Given the description of an element on the screen output the (x, y) to click on. 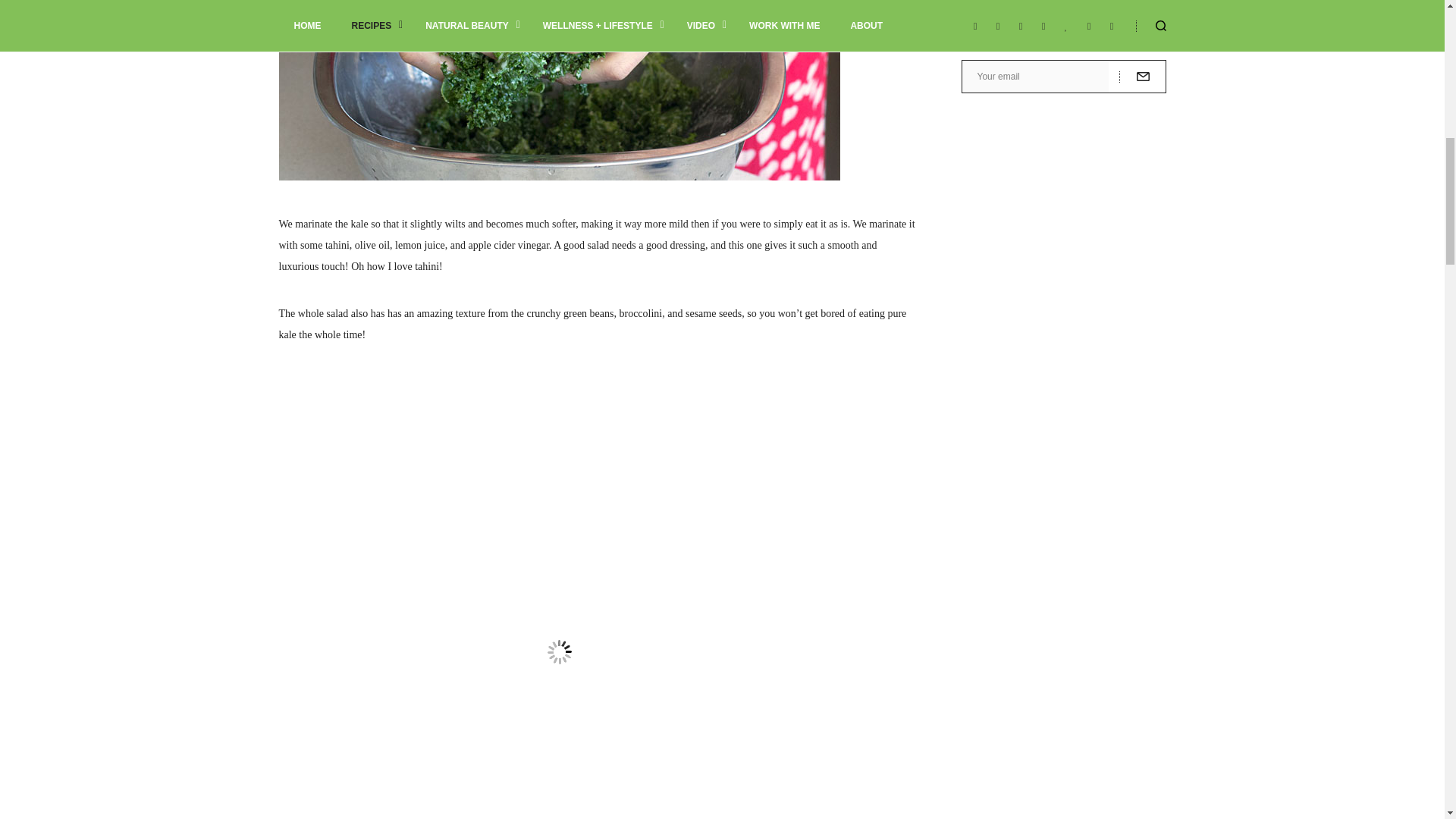
Submit (1141, 76)
